Given the description of an element on the screen output the (x, y) to click on. 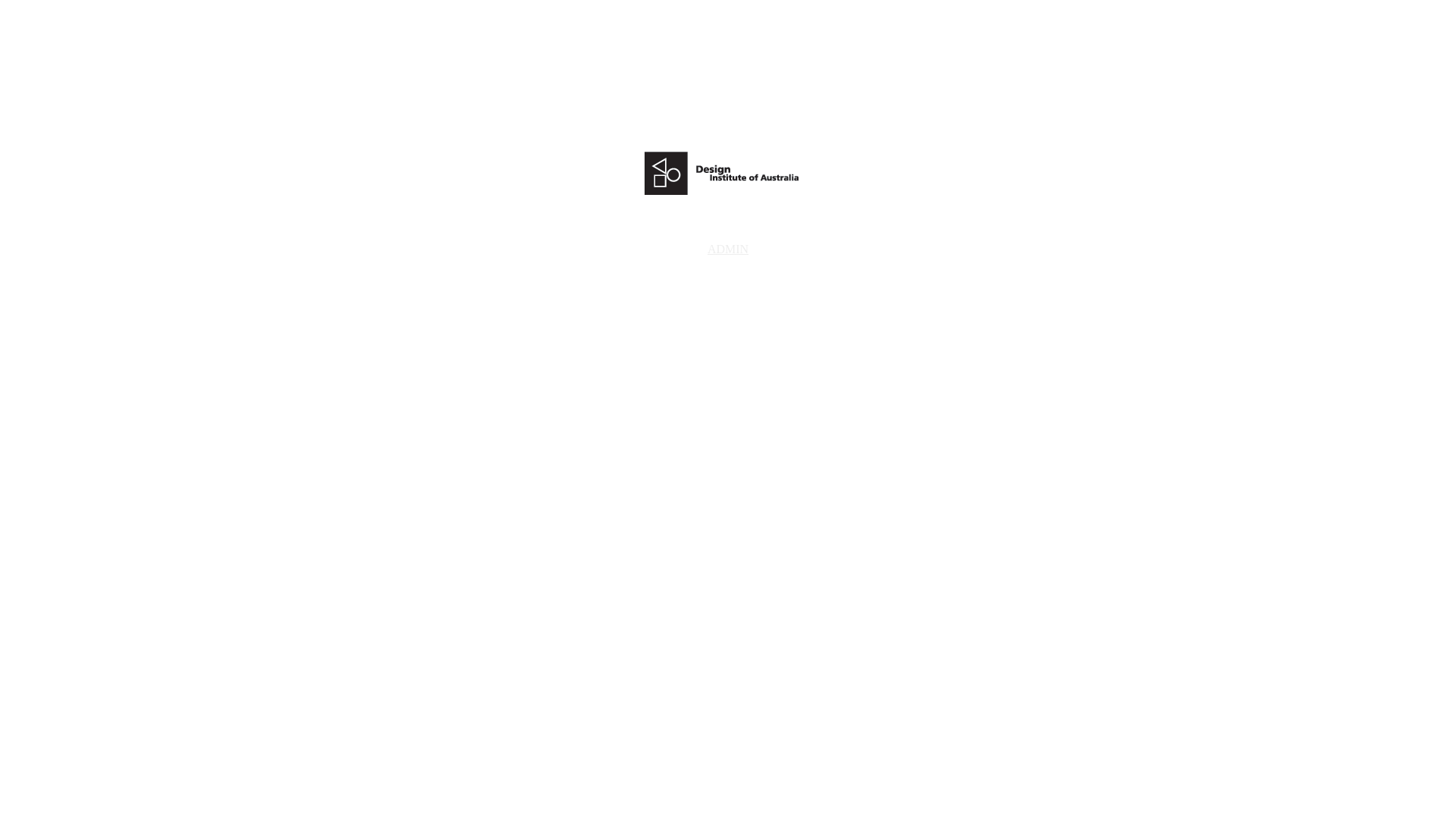
ADMIN Element type: text (727, 248)
